Given the description of an element on the screen output the (x, y) to click on. 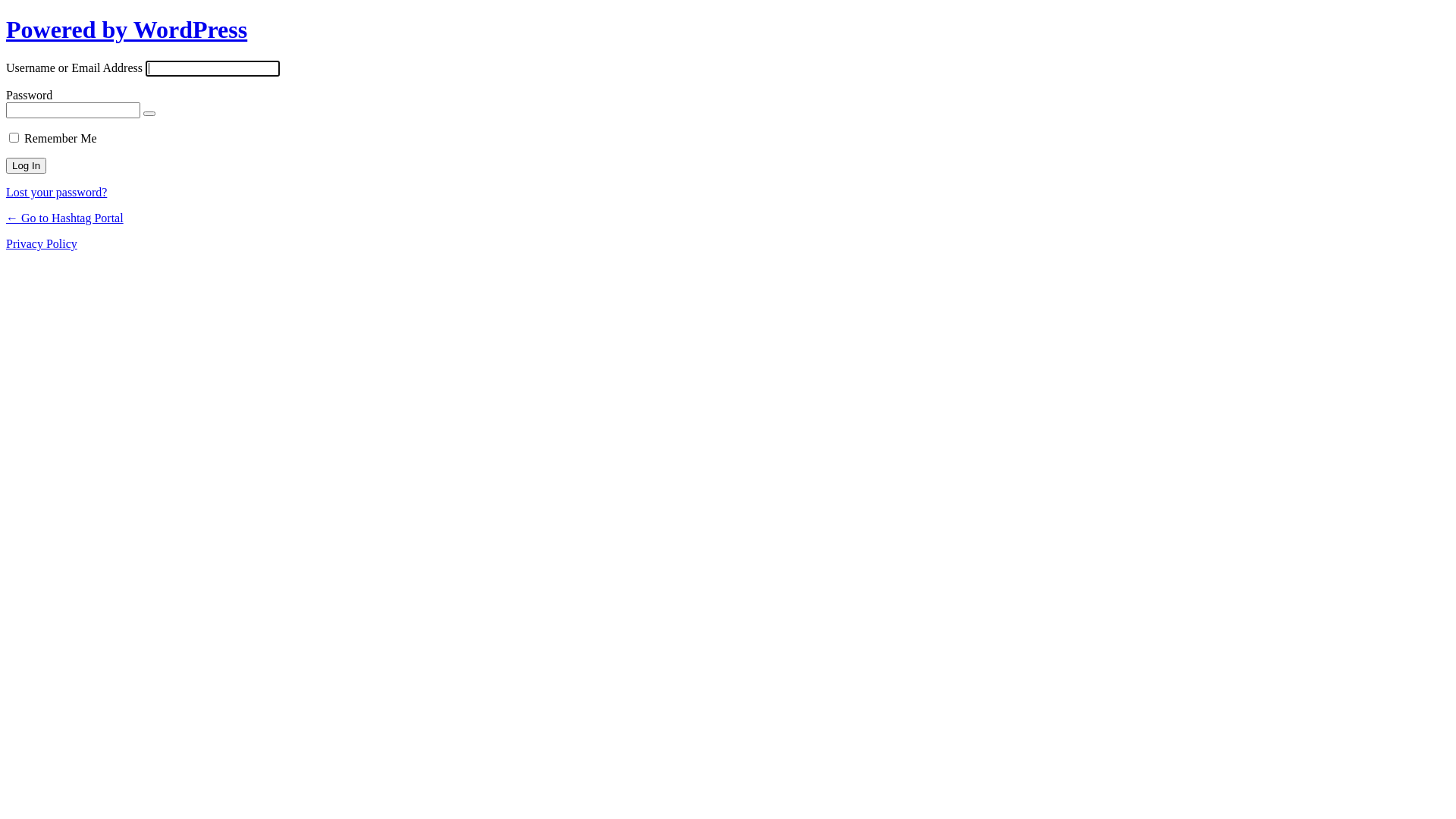
Log In Element type: text (26, 165)
Lost your password? Element type: text (56, 191)
Privacy Policy Element type: text (41, 243)
Powered by WordPress Element type: text (126, 29)
